Given the description of an element on the screen output the (x, y) to click on. 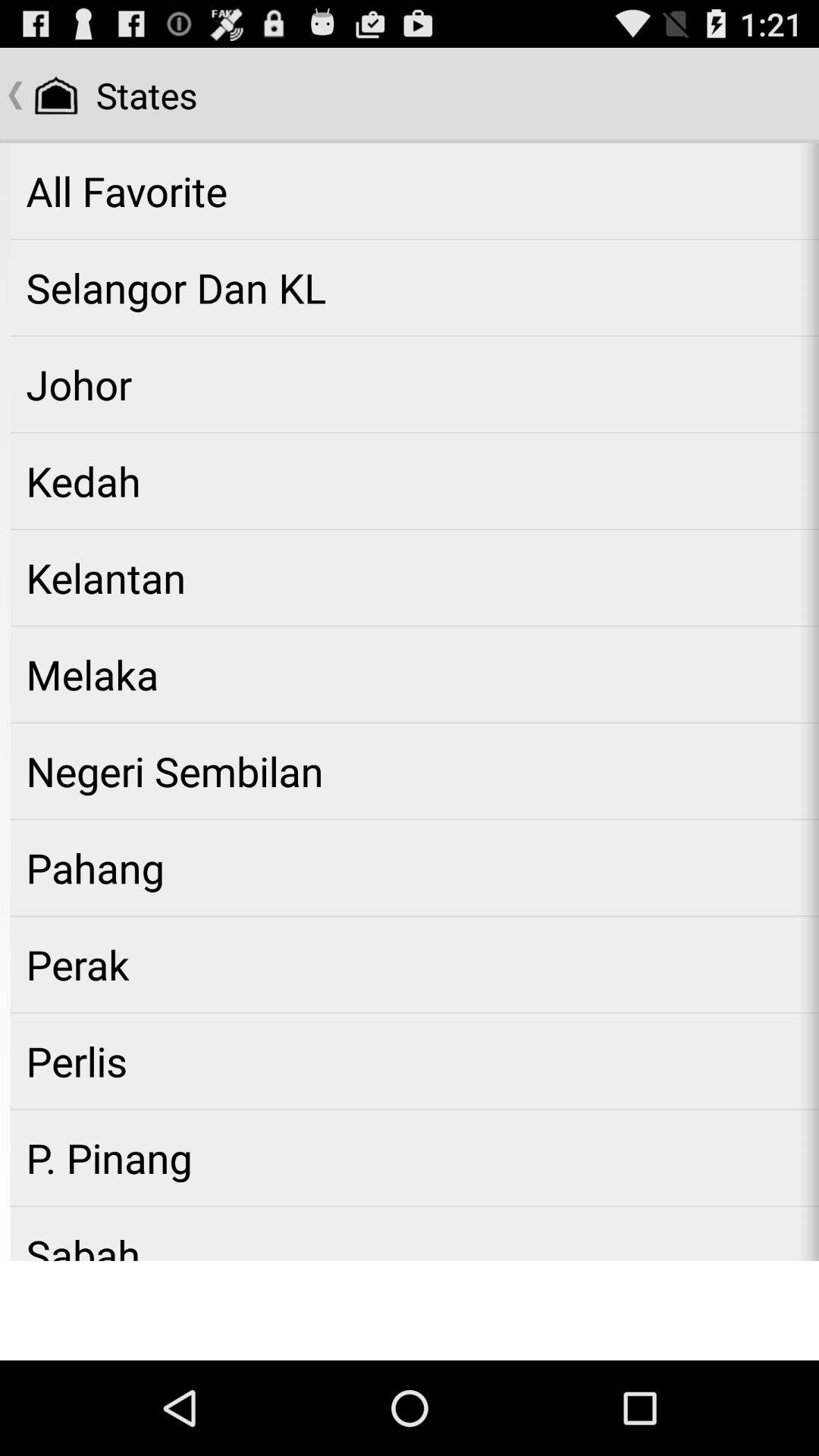
launch the icon above negeri sembilan item (414, 674)
